Given the description of an element on the screen output the (x, y) to click on. 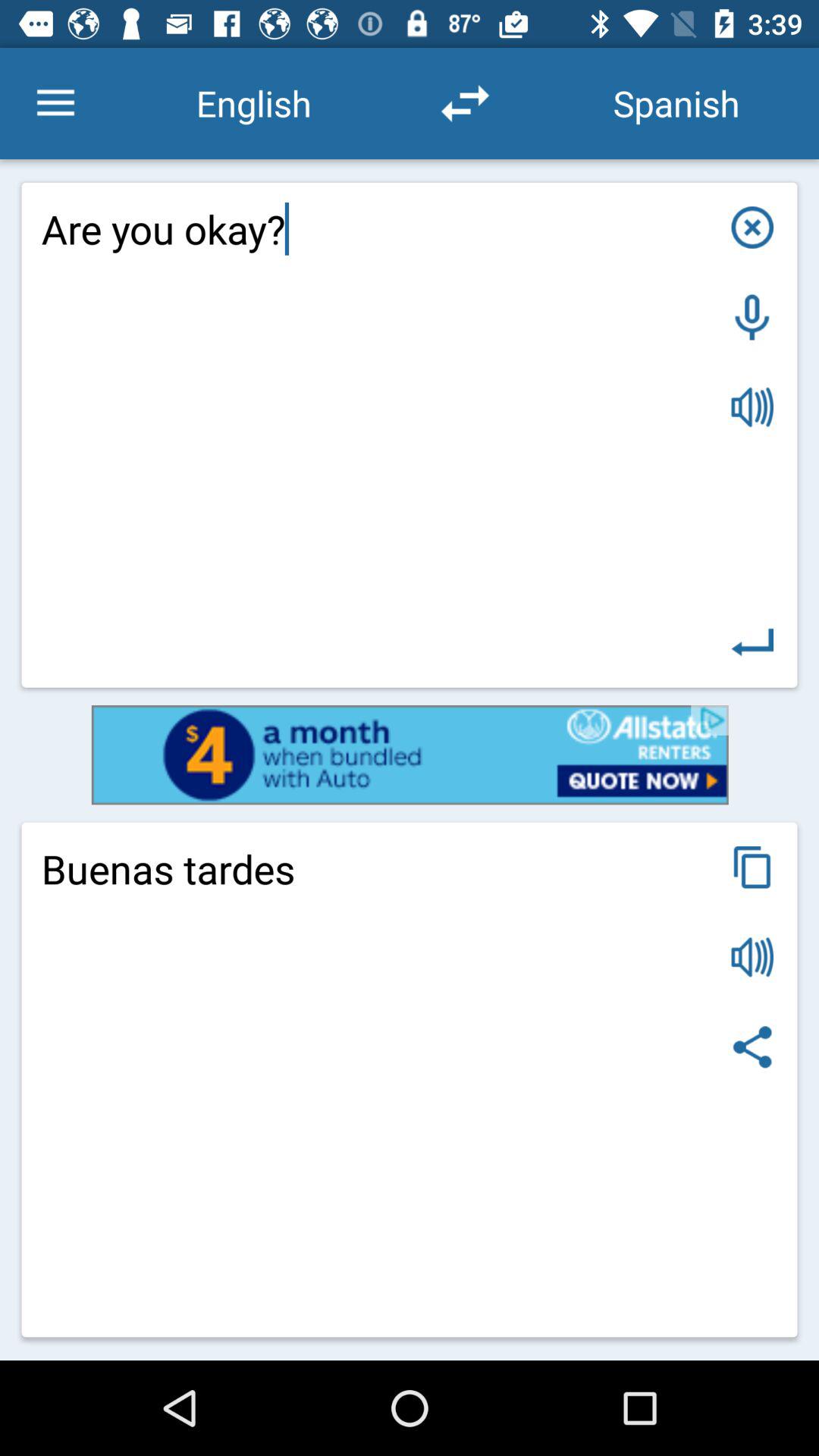
translate (752, 642)
